Given the description of an element on the screen output the (x, y) to click on. 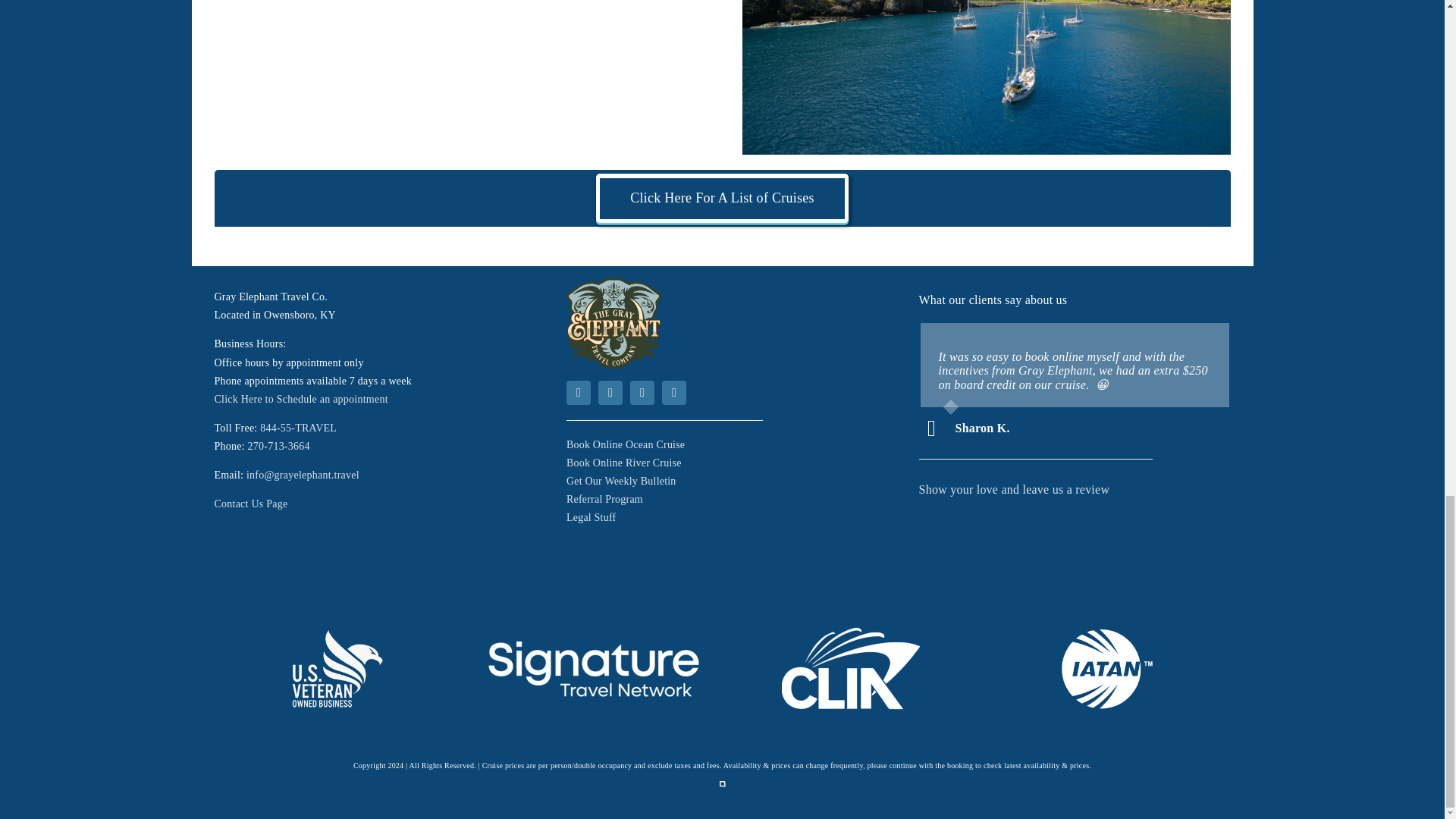
South Pacific (986, 77)
Instagram (641, 392)
Facebook (578, 392)
YouTube (673, 392)
Click Here For A List of Cruises (722, 205)
Tiktok (610, 392)
